Given the description of an element on the screen output the (x, y) to click on. 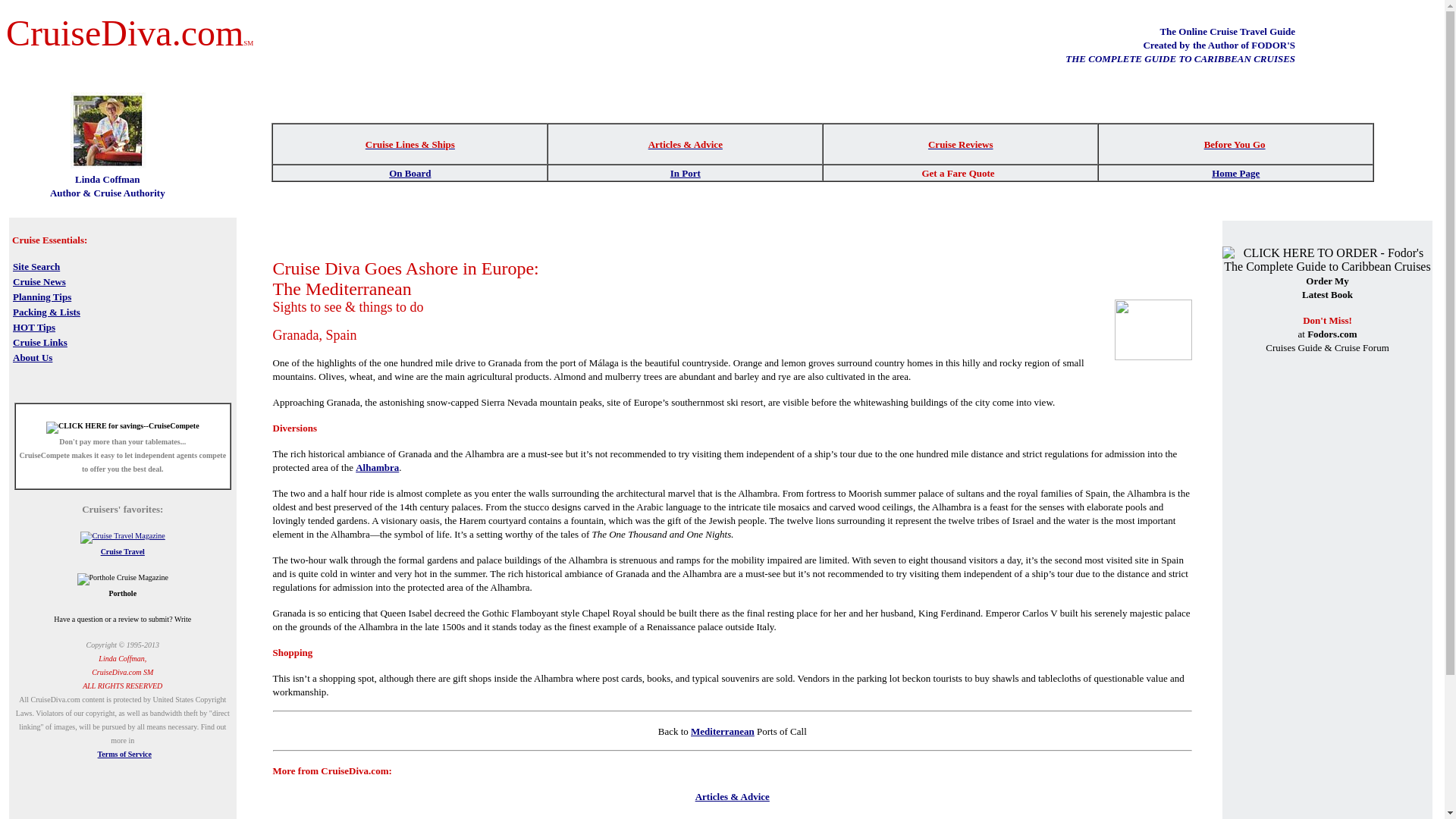
About Us (32, 356)
Planning Tips (42, 295)
Cruise News (39, 280)
On Board (409, 171)
Home Page (1235, 172)
Cruise Travel (122, 551)
Cruise Links (39, 341)
HOT Tips (34, 326)
Alhambra (376, 467)
Mediterranean (722, 731)
Cruise Reviews (960, 142)
Site Search (36, 265)
In Port (684, 171)
Terms of Service (124, 754)
Cruise Reviews (732, 817)
